Given the description of an element on the screen output the (x, y) to click on. 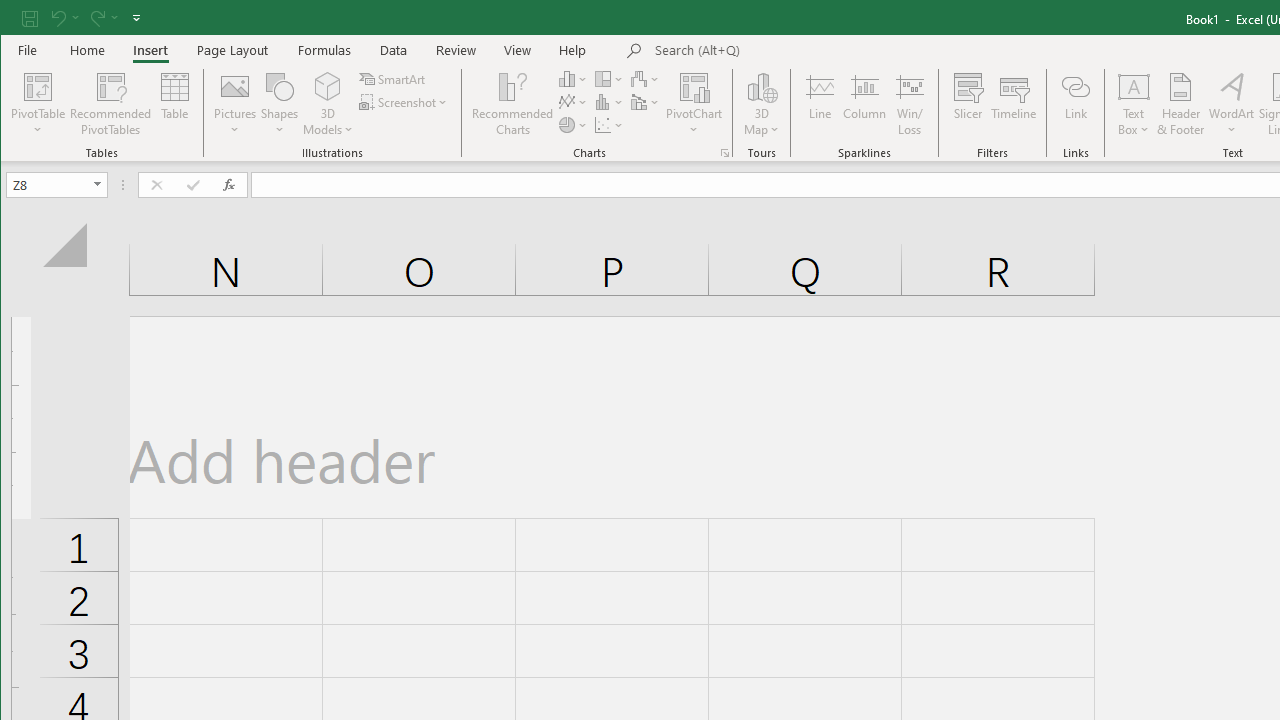
3D Models (327, 86)
PivotTable (37, 104)
Shapes (279, 104)
Insert Hierarchy Chart (609, 78)
SmartArt... (393, 78)
Header & Footer... (1180, 104)
3D Map (762, 86)
Timeline (1014, 104)
Text Box (1133, 104)
